Given the description of an element on the screen output the (x, y) to click on. 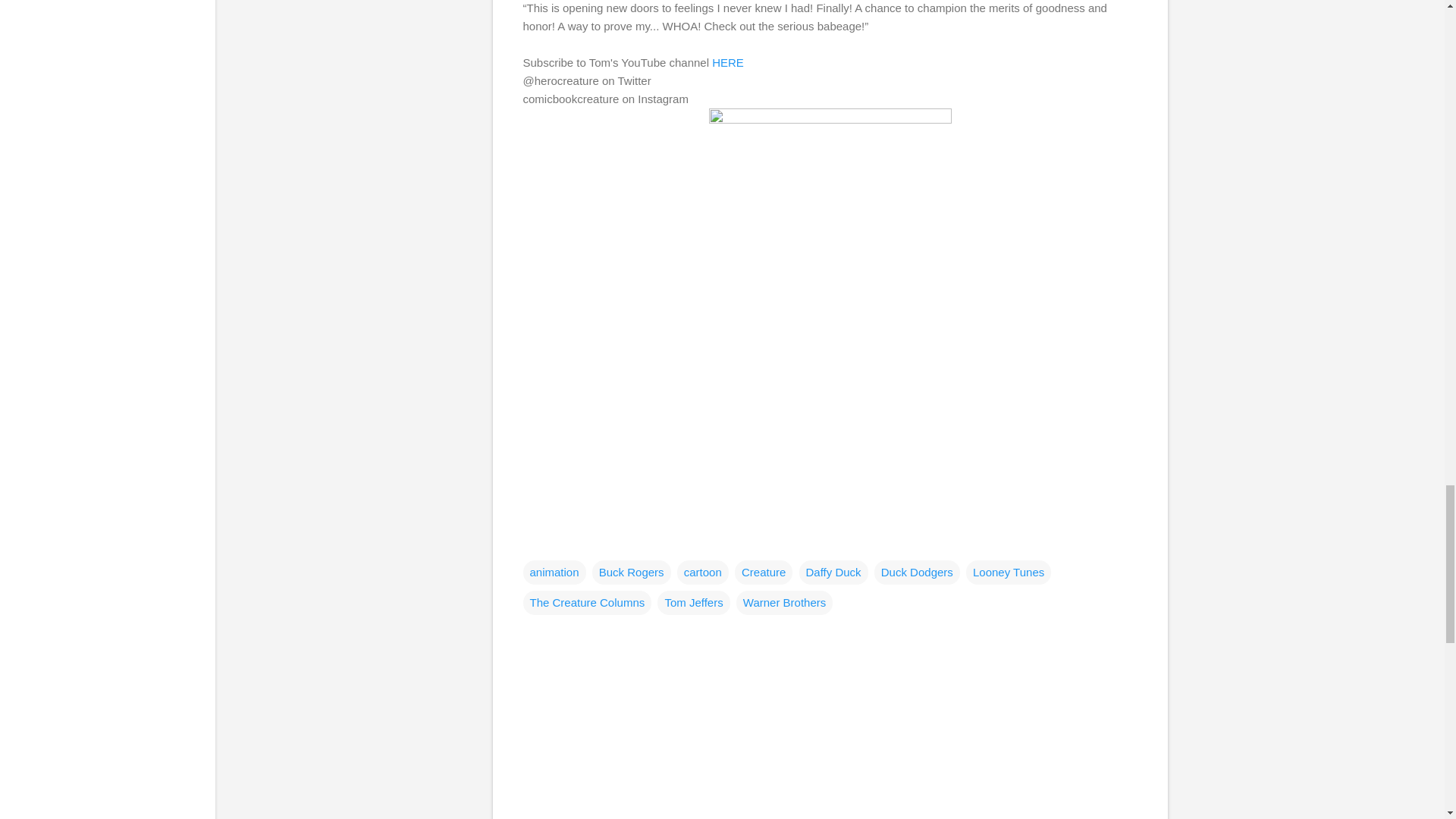
Warner Brothers (784, 601)
Looney Tunes (1008, 571)
animation (554, 571)
HERE (727, 62)
cartoon (703, 571)
Duck Dodgers (917, 571)
Buck Rogers (631, 571)
Creature (763, 571)
Tom Jeffers (693, 601)
The Creature Columns (587, 601)
Daffy Duck (833, 571)
